Given the description of an element on the screen output the (x, y) to click on. 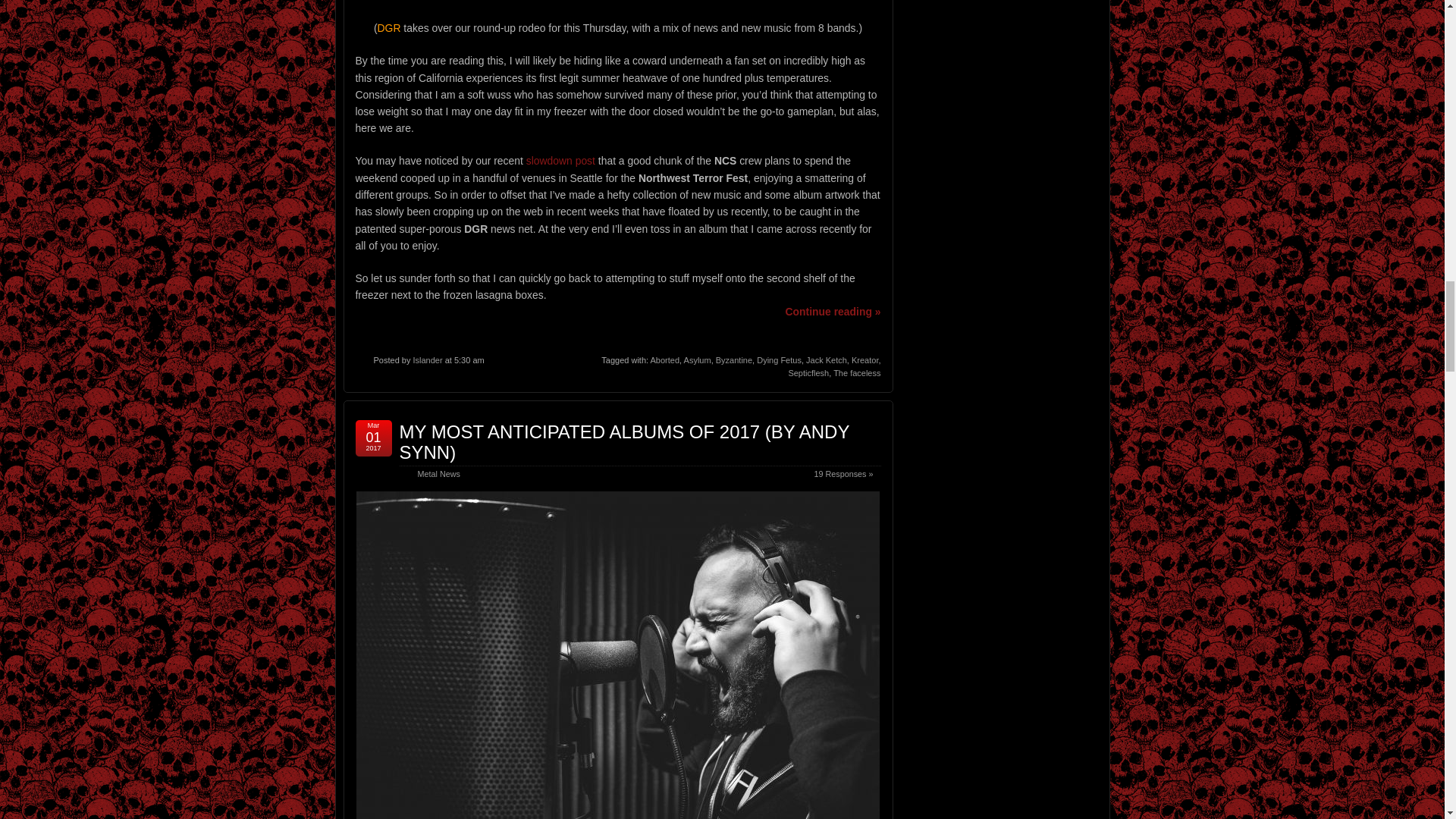
slowdown post (560, 160)
Aborted (664, 359)
Islander (427, 359)
Asylum (697, 359)
Byzantine (734, 359)
